Given the description of an element on the screen output the (x, y) to click on. 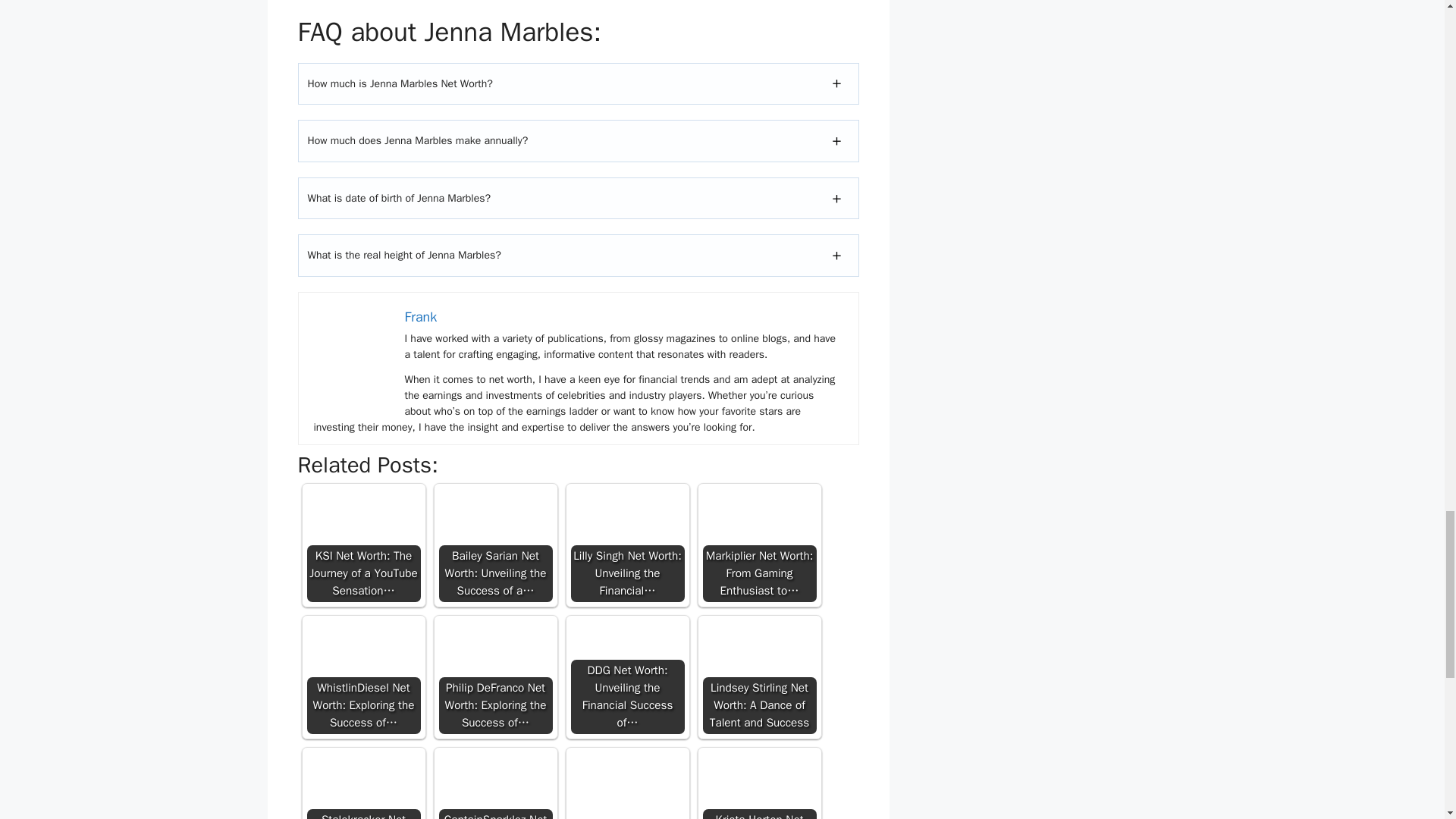
Jack Doherty Net Worth (627, 783)
Lindsey Stirling Net Worth: A Dance of Talent and Success (758, 648)
Frank White (352, 345)
